Given the description of an element on the screen output the (x, y) to click on. 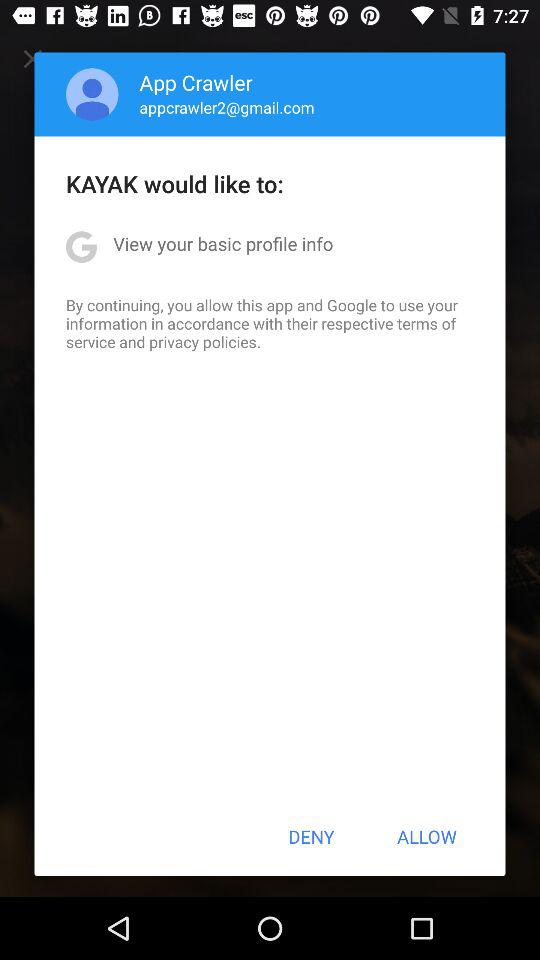
tap icon next to app crawler icon (92, 94)
